Given the description of an element on the screen output the (x, y) to click on. 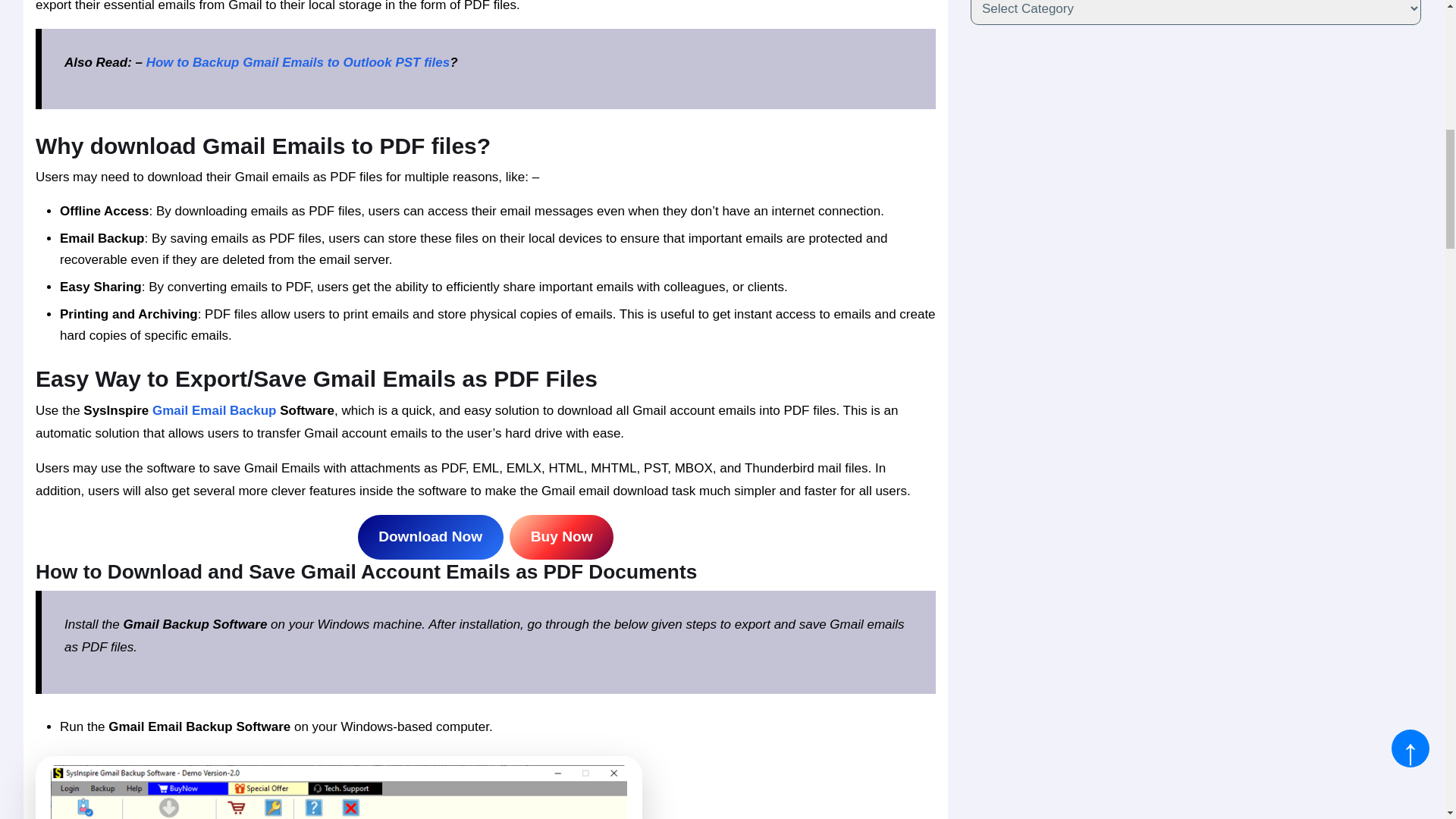
Download Now (430, 536)
How to Backup Gmail Emails to Outlook PST files (298, 62)
Buy Now (560, 536)
Gmail Email Backup (214, 409)
